Given the description of an element on the screen output the (x, y) to click on. 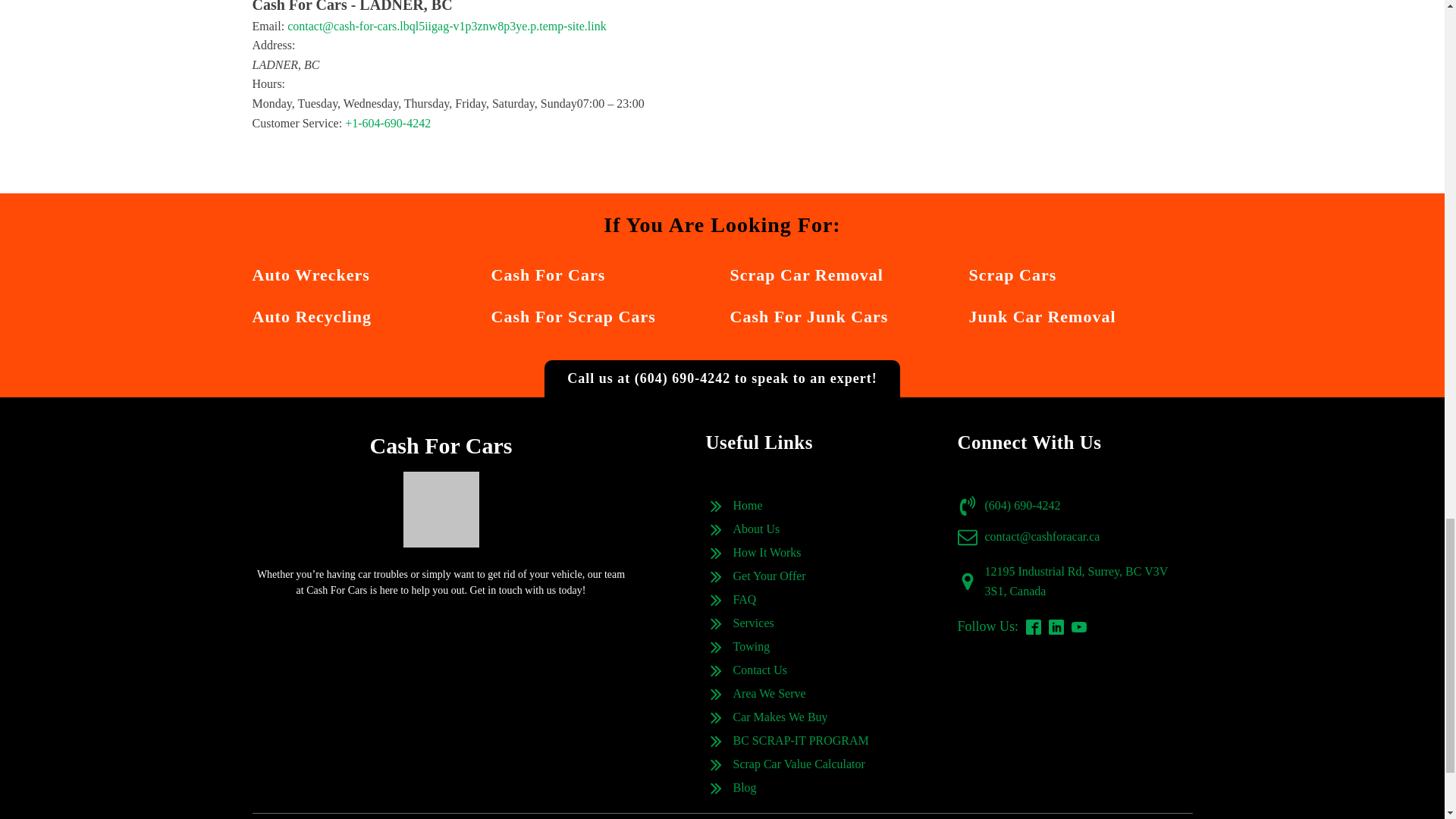
Services (752, 623)
Blog (743, 787)
Towing (751, 646)
12195 Industrial Rd, Surrey, BC V3V 3S1, Canada (1088, 580)
About Us (755, 528)
Area We Serve (768, 693)
Get Your Offer (768, 576)
Scrap Car Value Calculator (798, 763)
Contact Us (759, 670)
BC SCRAP-IT PROGRAM (799, 741)
FAQ (743, 599)
Home (746, 505)
How It Works (766, 552)
Car Makes We Buy (779, 717)
